Given the description of an element on the screen output the (x, y) to click on. 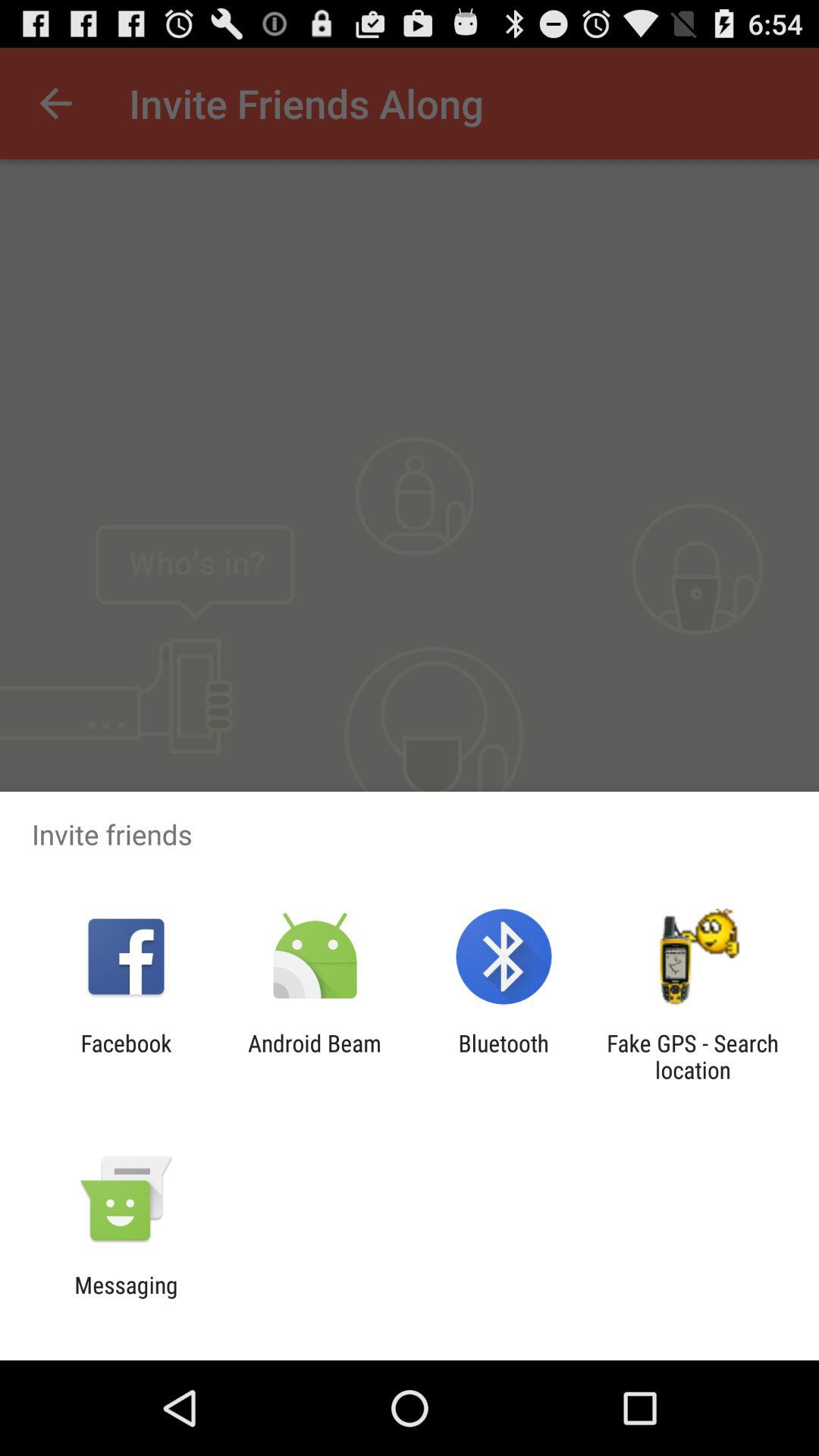
flip until messaging app (126, 1298)
